Given the description of an element on the screen output the (x, y) to click on. 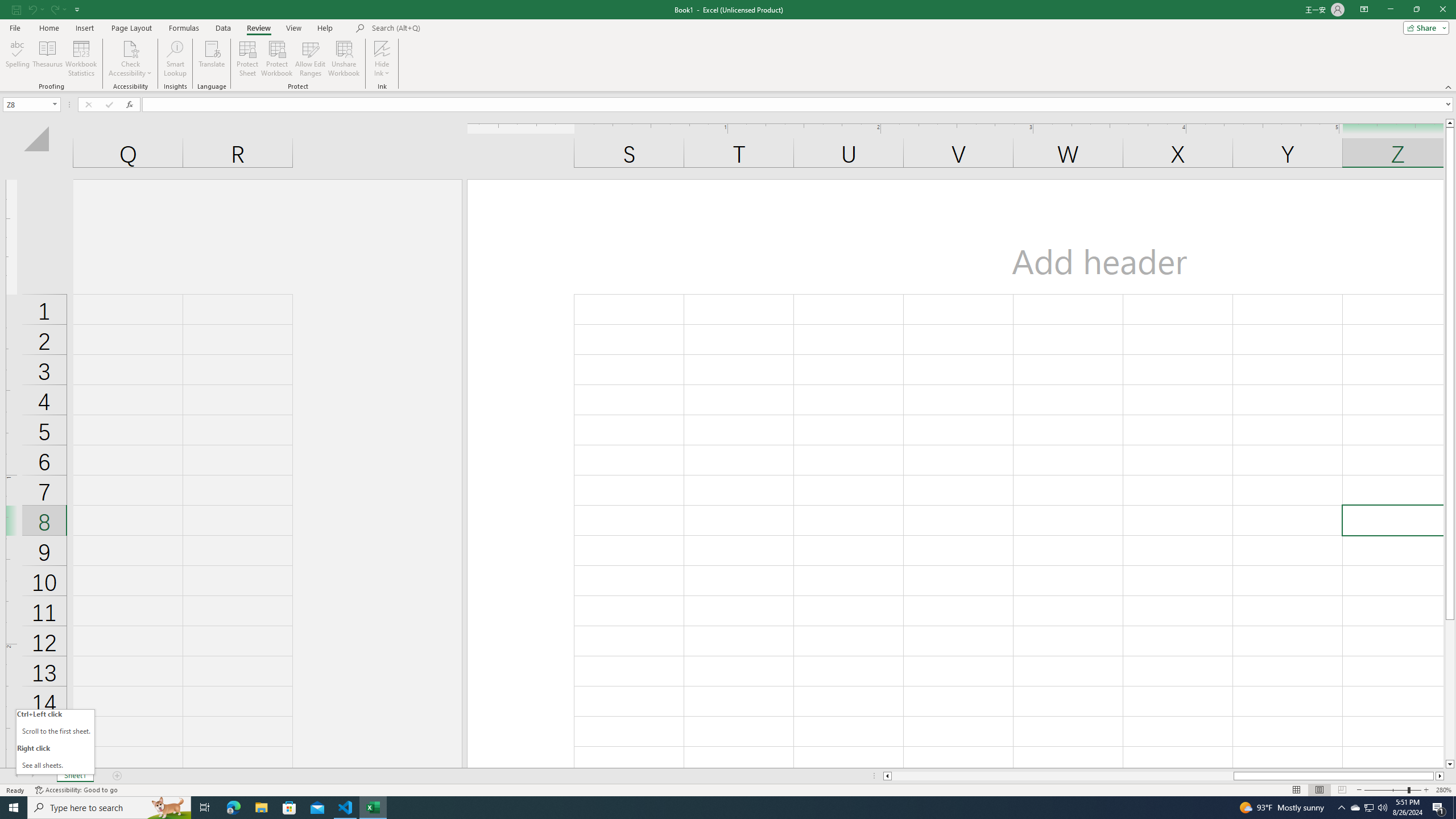
Protect Workbook... (277, 58)
Workbook Statistics (81, 58)
